Given the description of an element on the screen output the (x, y) to click on. 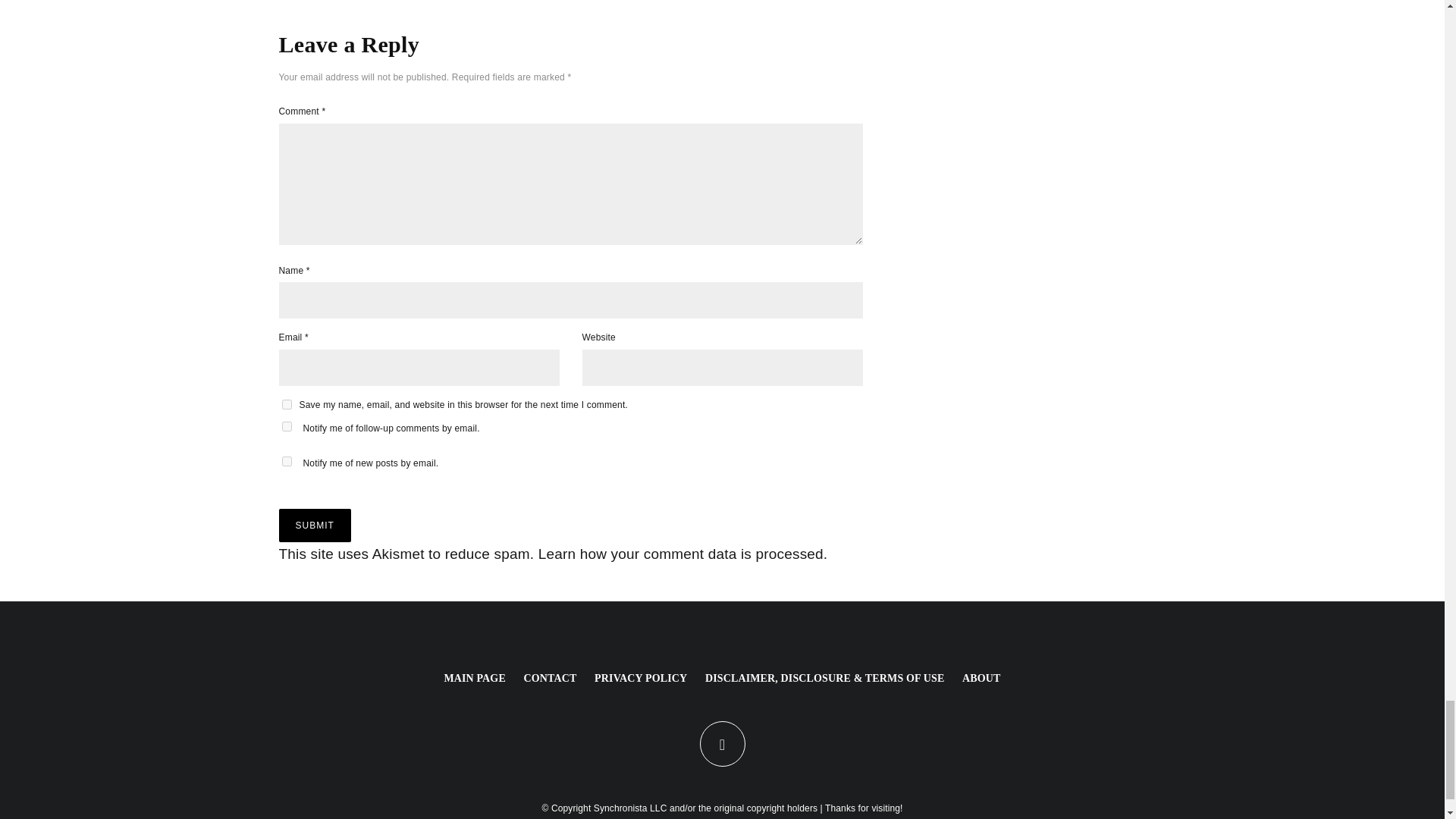
subscribe (287, 426)
Submit (314, 525)
yes (287, 404)
subscribe (287, 461)
